Given the description of an element on the screen output the (x, y) to click on. 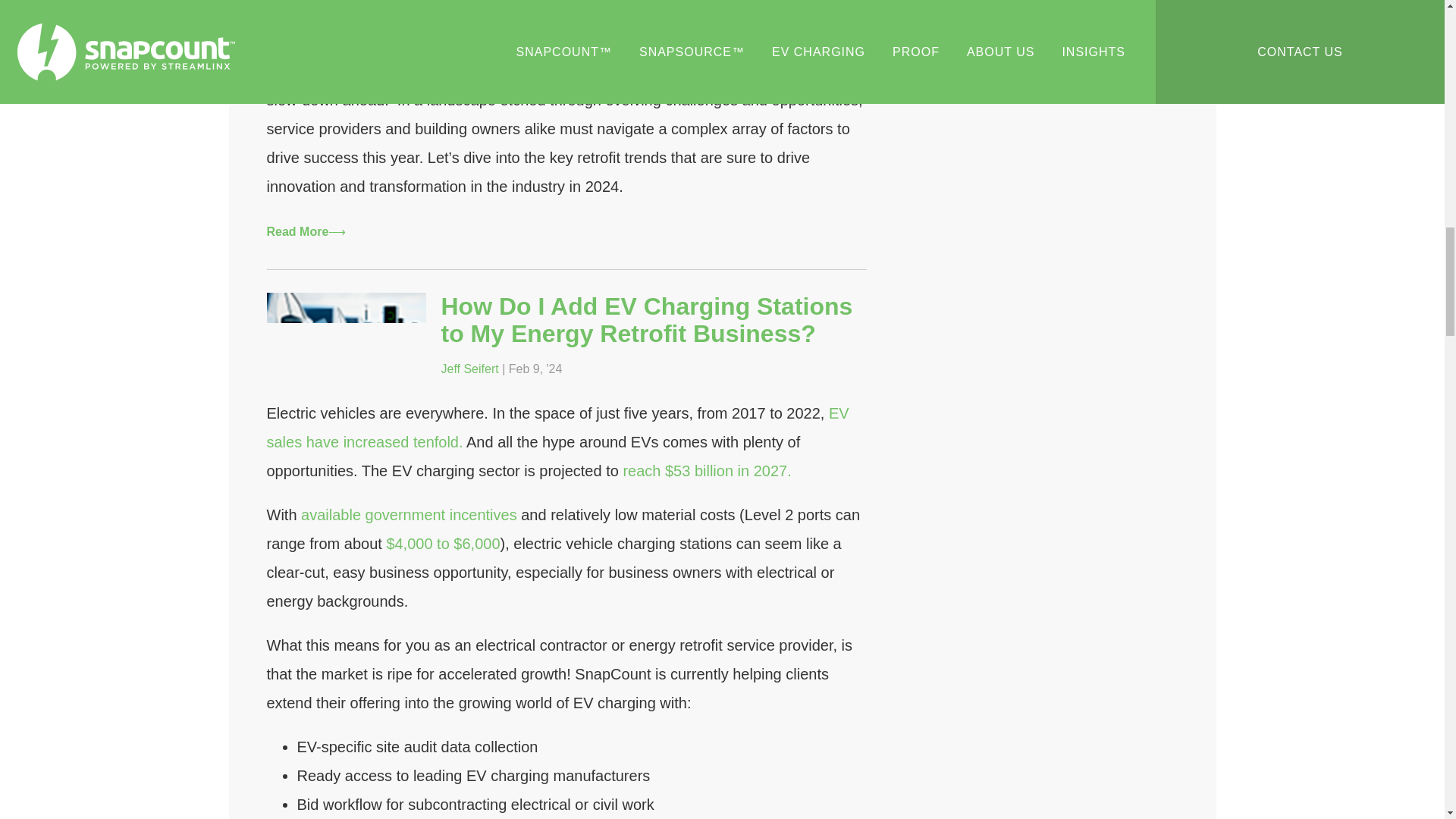
Jeff Seifert (295, 26)
EV sales have increased tenfold. (557, 427)
Jeff Seifert (470, 368)
Read More (306, 231)
available government incentives (408, 514)
